Given the description of an element on the screen output the (x, y) to click on. 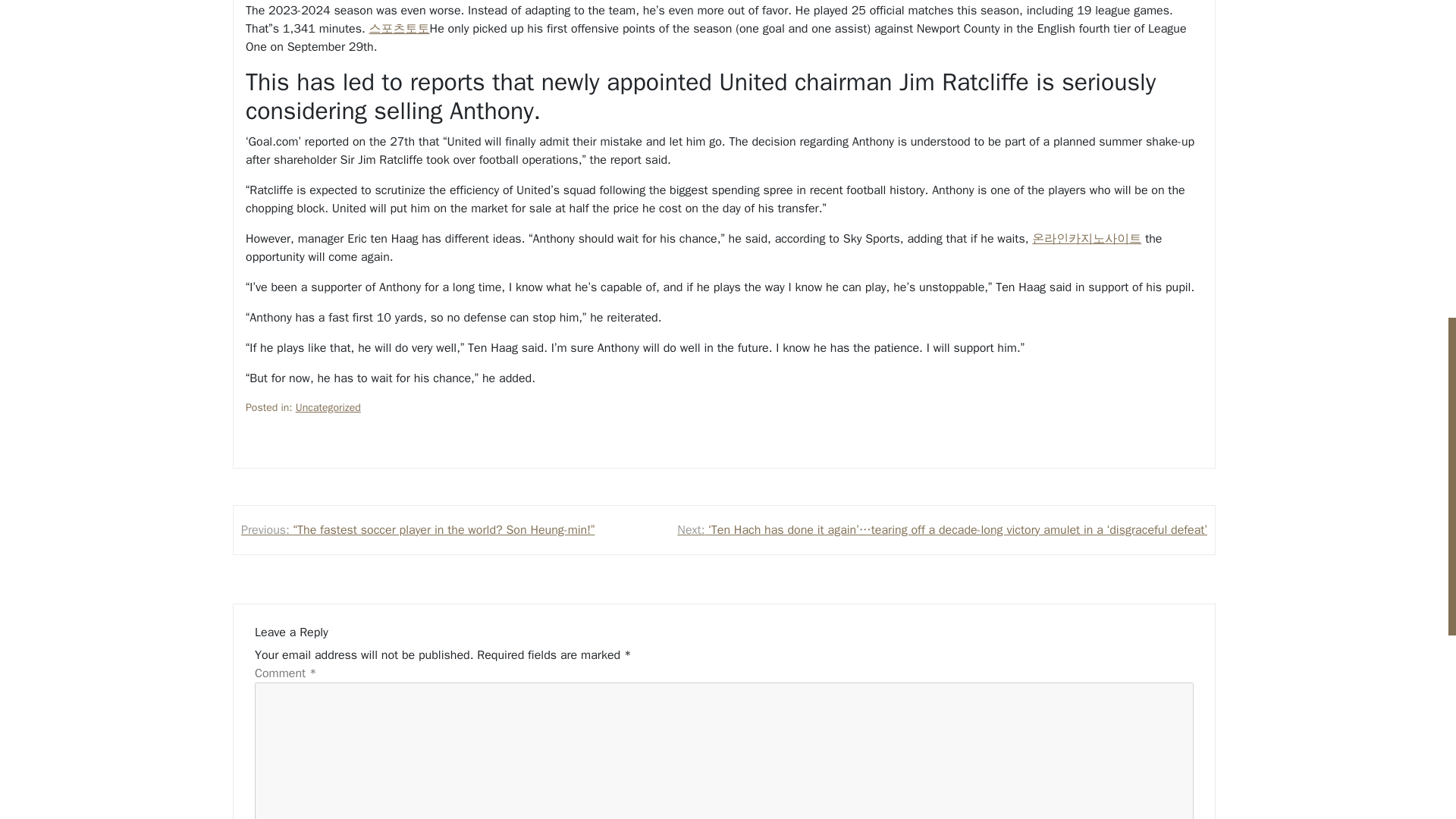
Uncategorized (328, 407)
